Given the description of an element on the screen output the (x, y) to click on. 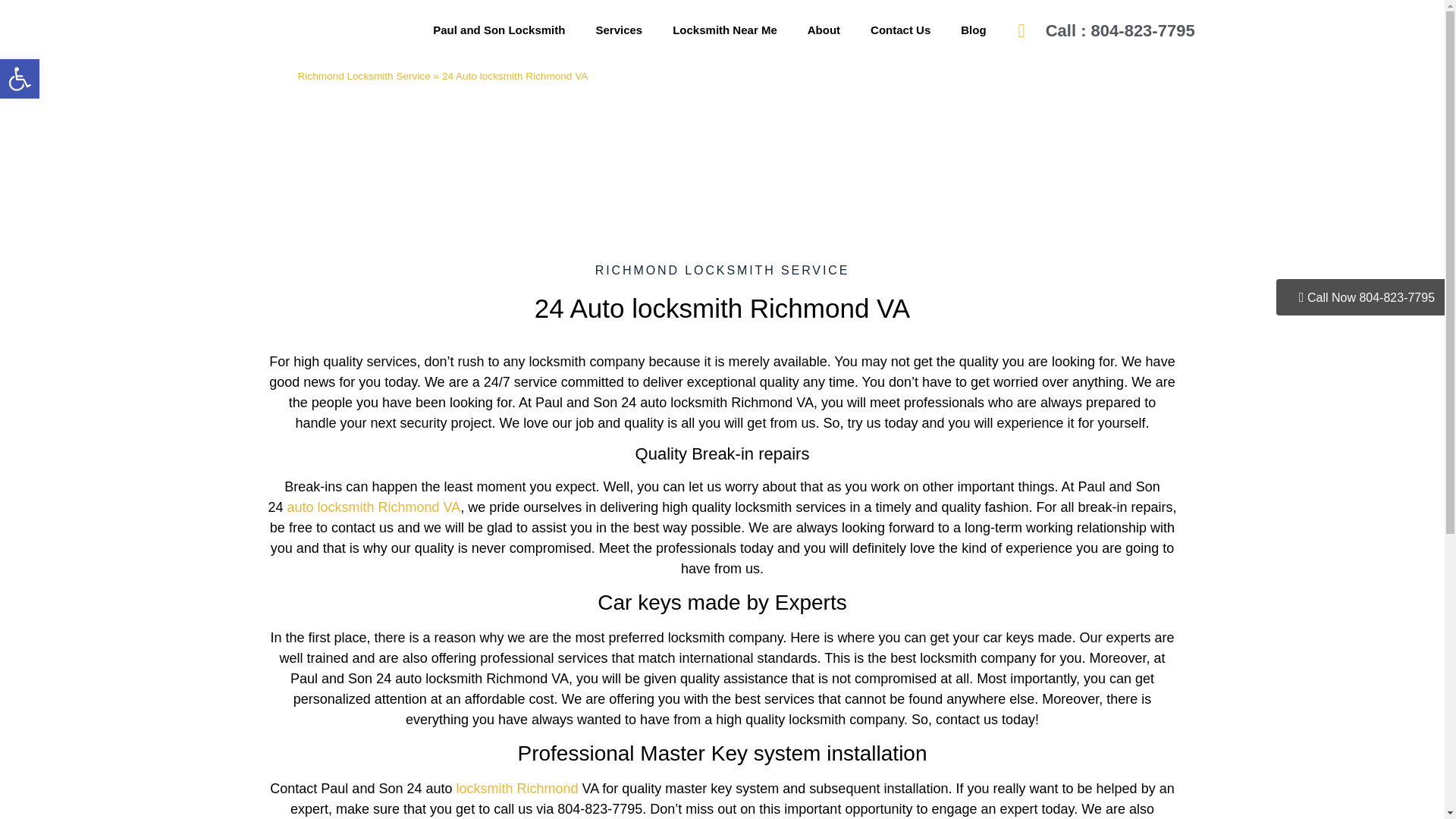
Accessibility Tools (19, 78)
About (824, 30)
Blog (972, 30)
Locksmith Near Me (725, 30)
Contact Us (900, 30)
Services (618, 30)
Paul and Son Locksmith (498, 30)
Call : 804-823-7795 (1146, 30)
Accessibility Tools (19, 78)
